Given the description of an element on the screen output the (x, y) to click on. 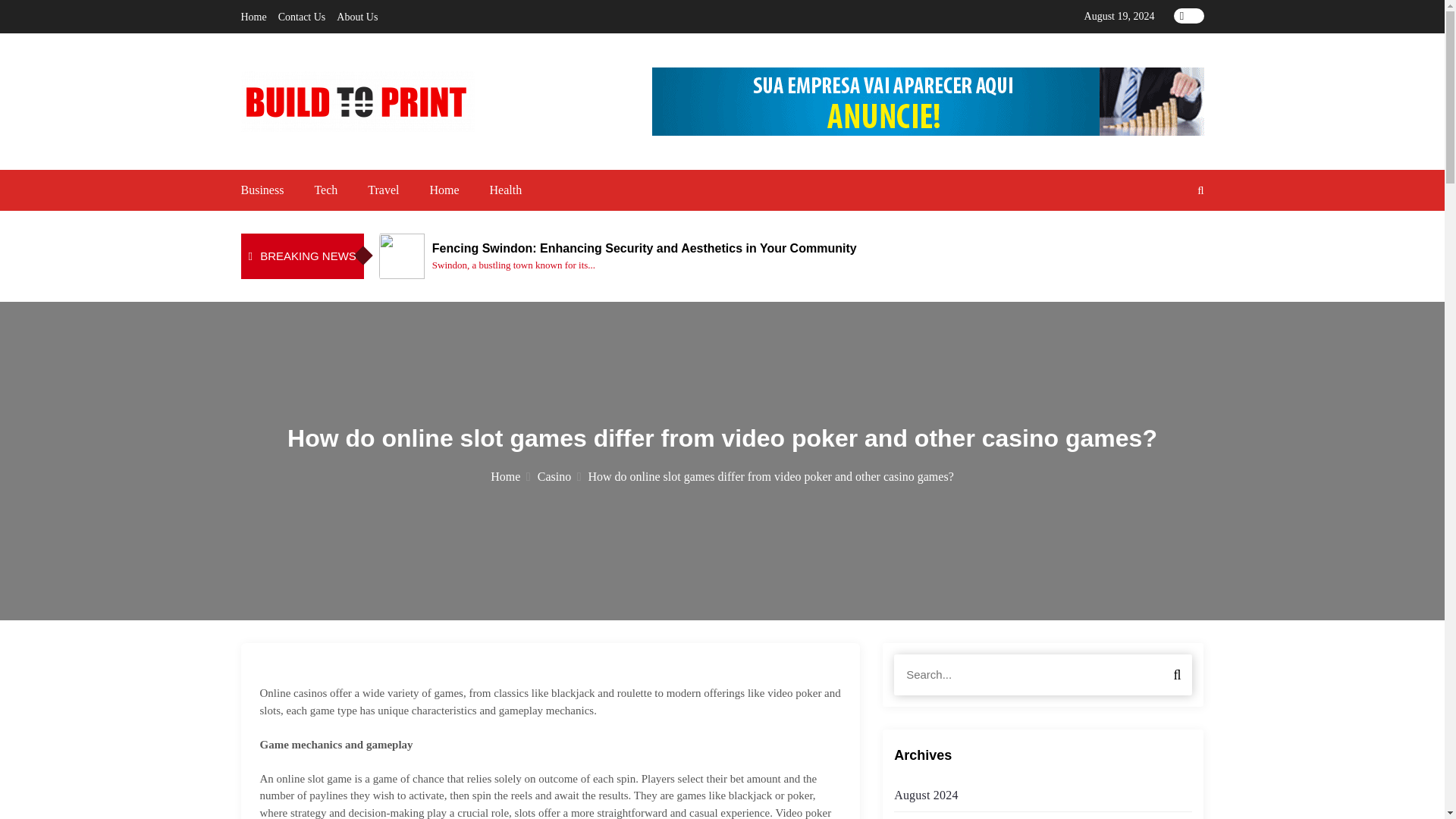
Home (509, 476)
Health (505, 189)
Casino (558, 476)
Home (253, 16)
Business (262, 189)
Tech (325, 189)
Home (443, 189)
Build To Print (388, 153)
Travel (383, 189)
